Given the description of an element on the screen output the (x, y) to click on. 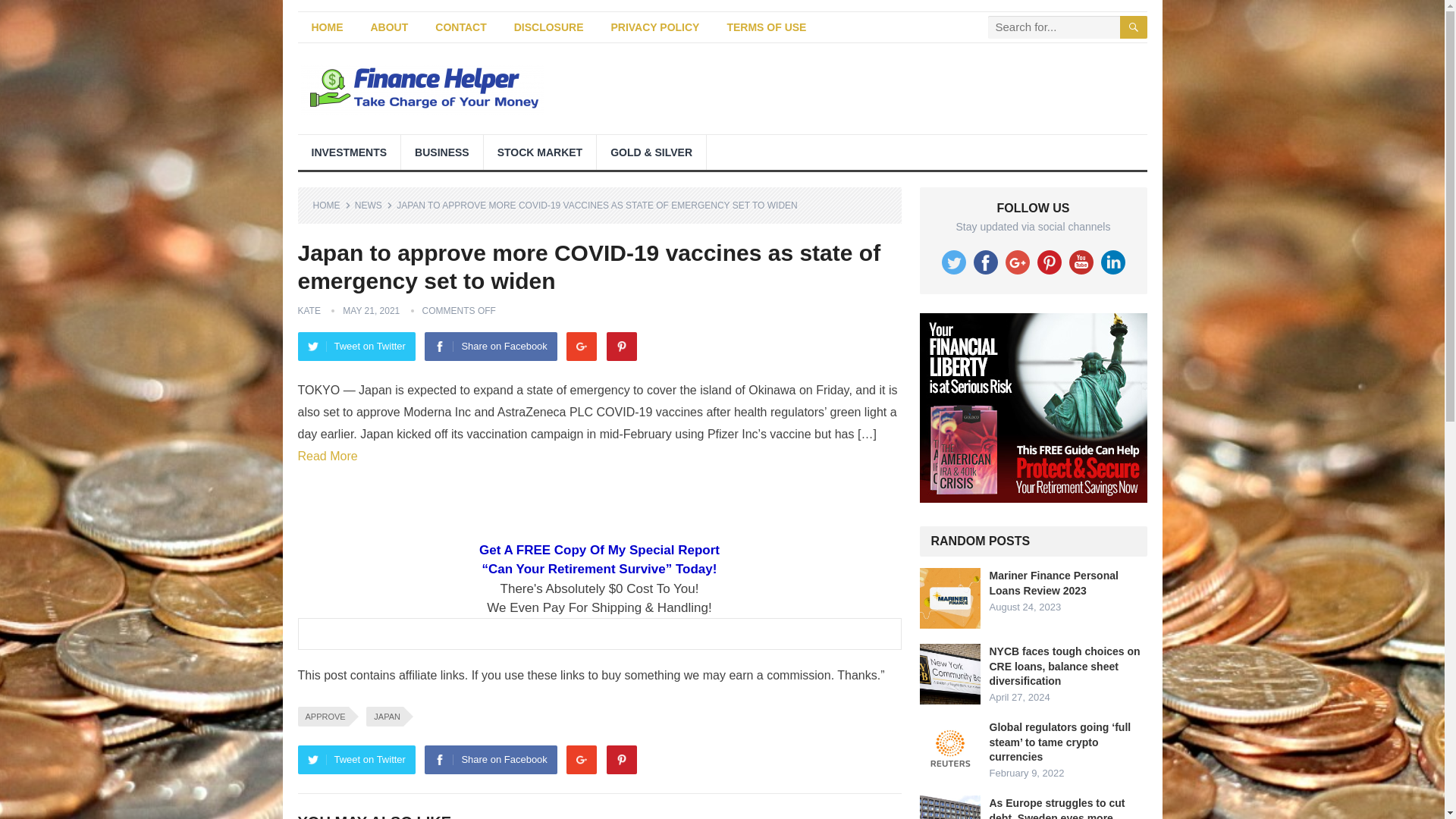
Share on Facebook (490, 759)
BUSINESS (442, 152)
CONTACT (460, 27)
Tweet on Twitter (355, 759)
Tweet on Twitter (355, 346)
HOME (326, 27)
STOCK MARKET (539, 152)
DISCLOSURE (548, 27)
View all posts in News (374, 204)
PRIVACY POLICY (654, 27)
